Given the description of an element on the screen output the (x, y) to click on. 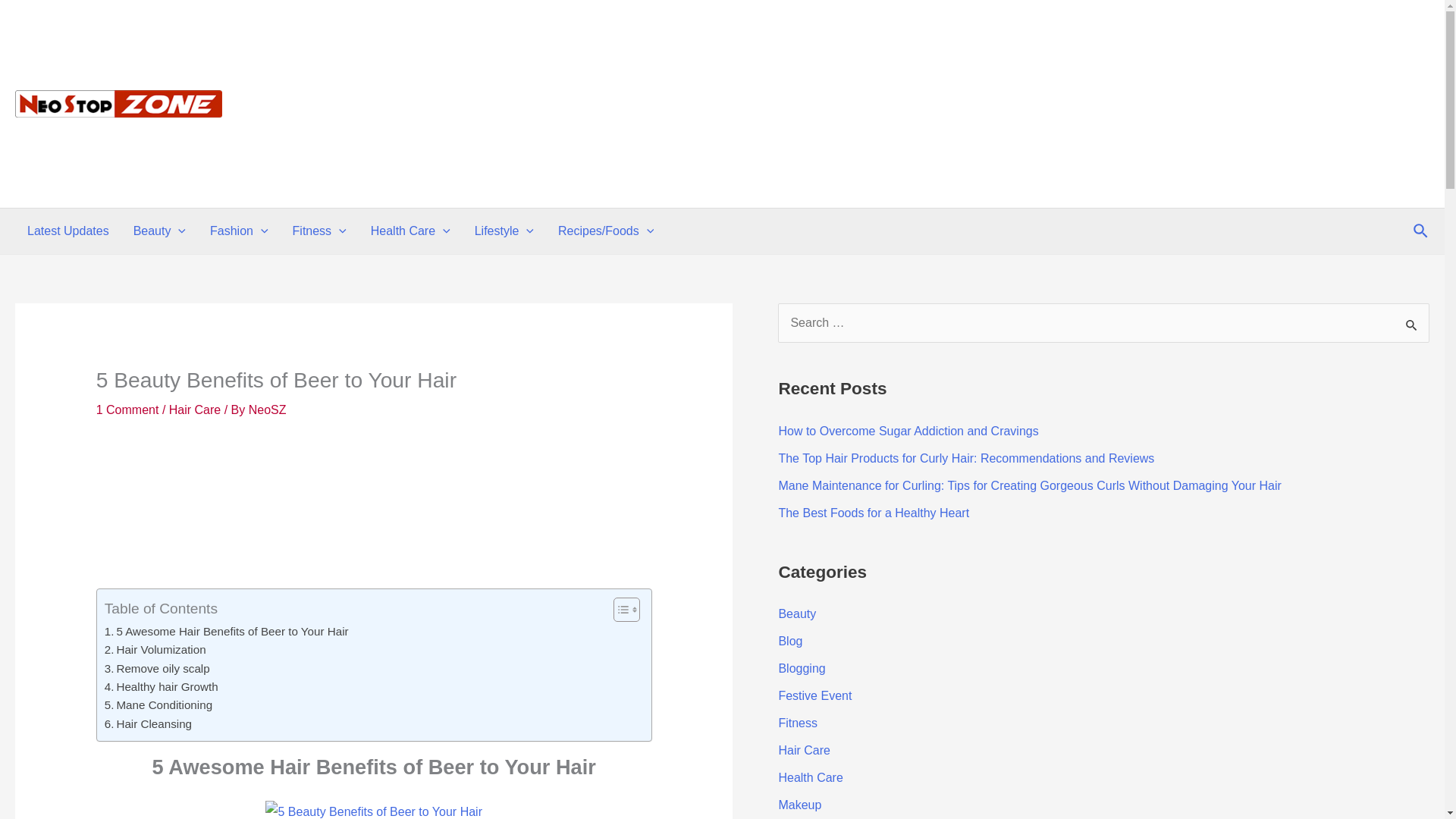
View all posts by NeoSZ (267, 409)
Beauty (159, 230)
Hair Volumization (155, 649)
Hair Cleansing (148, 723)
Remove oily scalp (156, 669)
Mane Conditioning (158, 705)
Fashion (239, 230)
5 Awesome Hair Benefits of Beer to Your Hair (226, 631)
Fitness (319, 230)
Latest Updates (67, 230)
5 Beauty Benefits of Beer to Your Hair (372, 809)
Healthy hair Growth (161, 687)
